Given the description of an element on the screen output the (x, y) to click on. 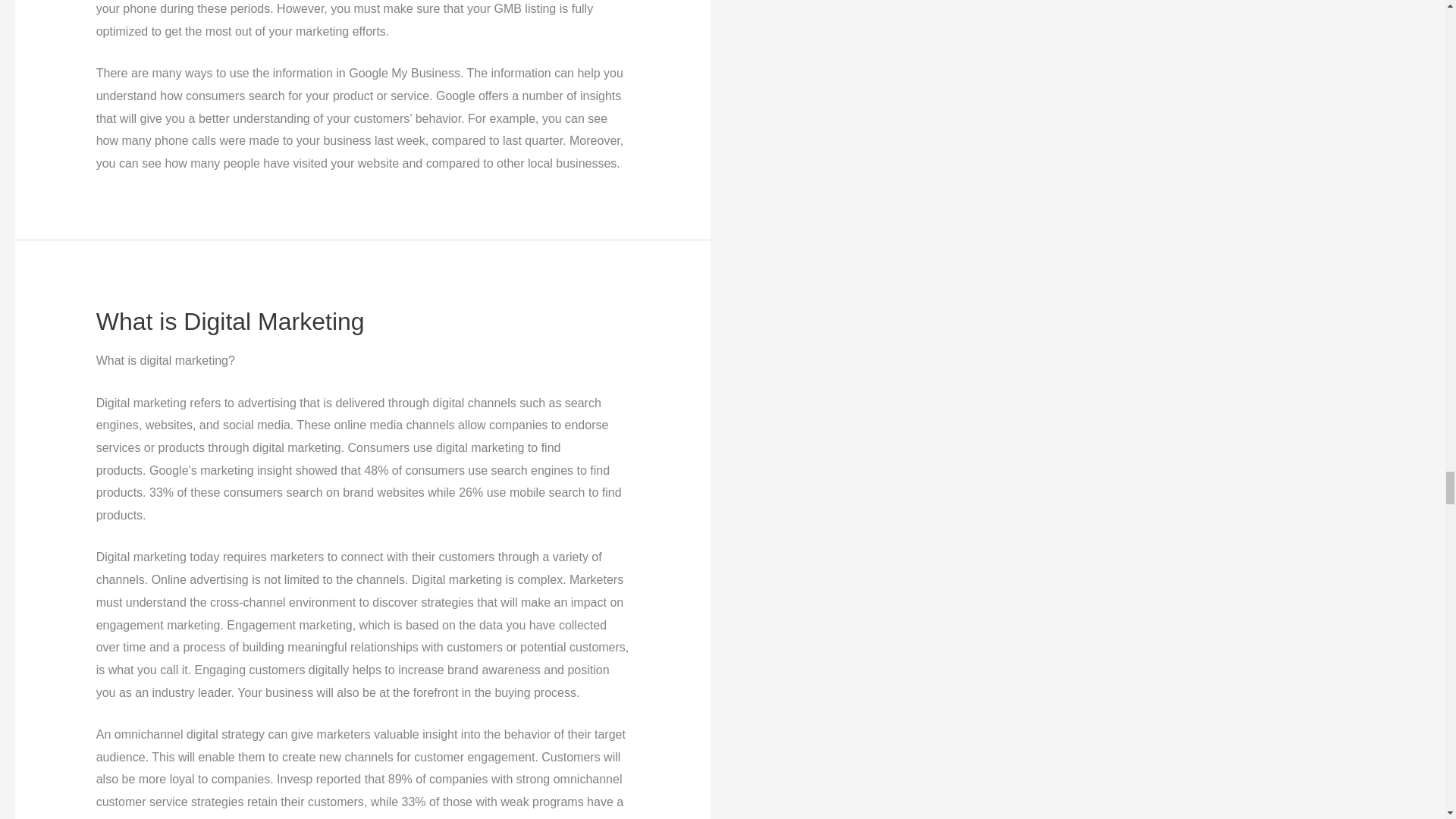
What is Digital Marketing (230, 320)
